Given the description of an element on the screen output the (x, y) to click on. 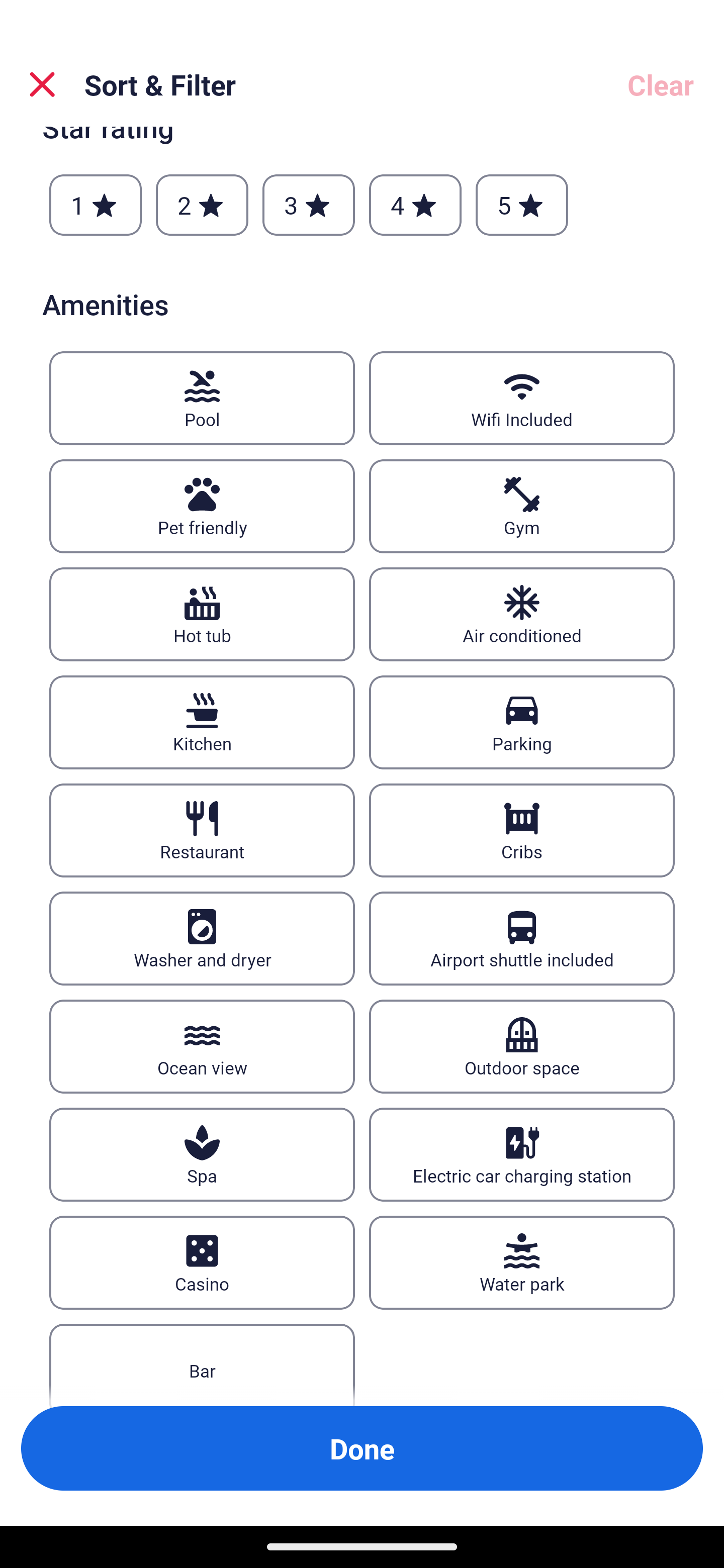
Close Sort and Filter (42, 84)
Clear (660, 84)
1 (95, 205)
2 (201, 205)
3 (308, 205)
4 (415, 205)
5 (521, 205)
Pool (201, 398)
Wifi Included (521, 398)
Pet friendly (201, 506)
Gym (521, 506)
Hot tub (201, 614)
Air conditioned (521, 614)
Kitchen (201, 722)
Parking (521, 722)
Restaurant (201, 831)
Cribs (521, 831)
Washer and dryer (201, 939)
Airport shuttle included (521, 939)
Ocean view (201, 1046)
Outdoor space (521, 1046)
Spa (201, 1154)
Electric car charging station (521, 1154)
Casino (201, 1262)
Water park (521, 1262)
Bar (201, 1364)
Apply and close Sort and Filter Done (361, 1448)
